Given the description of an element on the screen output the (x, y) to click on. 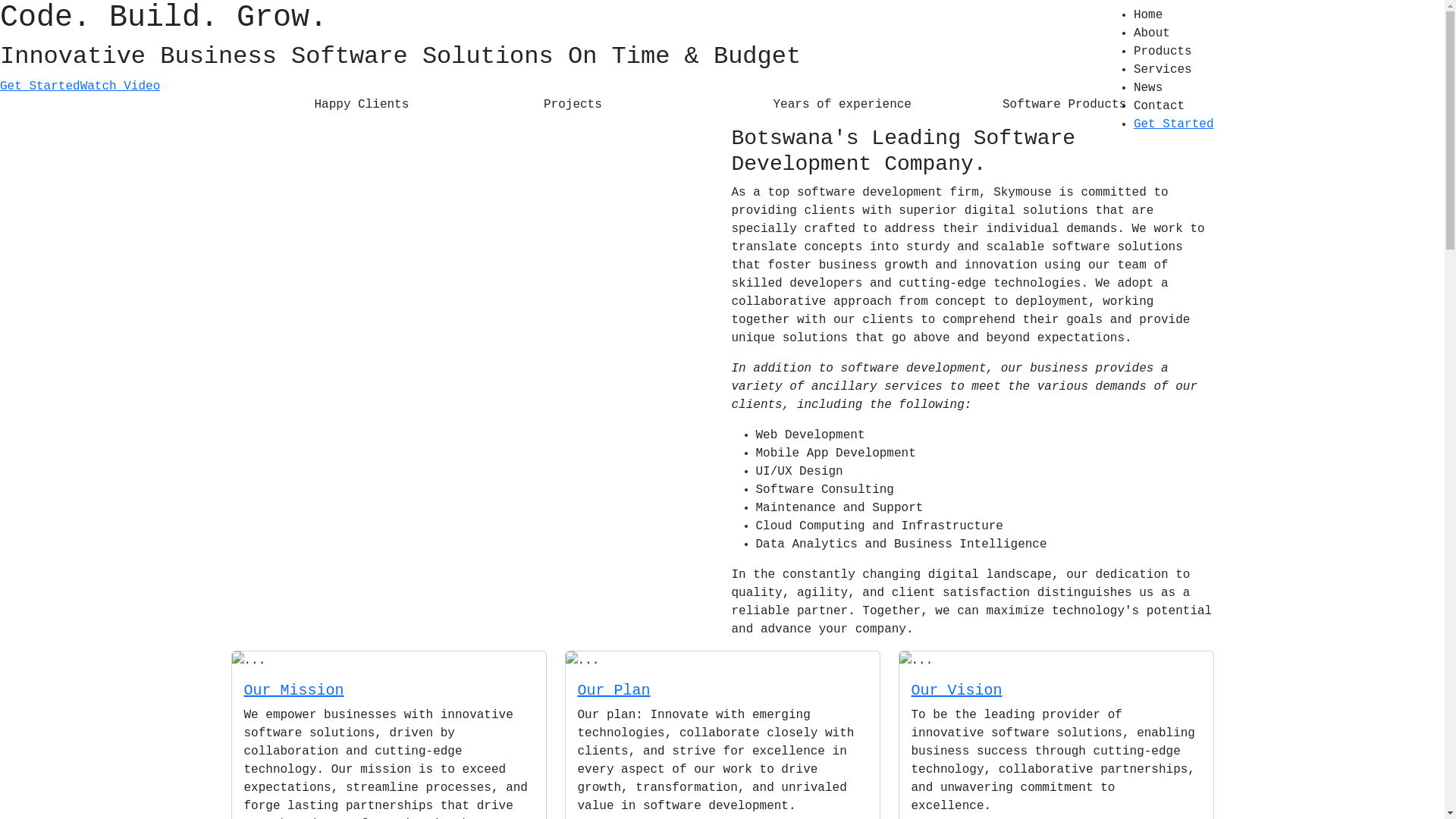
Our Mission Element type: text (294, 690)
Our Plan Element type: text (613, 690)
News Element type: text (1173, 87)
Contact Element type: text (1173, 106)
About Element type: text (1173, 33)
Home Element type: text (1173, 15)
Services Element type: text (1173, 69)
Watch Video Element type: text (120, 86)
Get Started Element type: text (40, 86)
Get Started Element type: text (1173, 124)
Our Vision Element type: text (956, 690)
Products Element type: text (1173, 51)
